Given the description of an element on the screen output the (x, y) to click on. 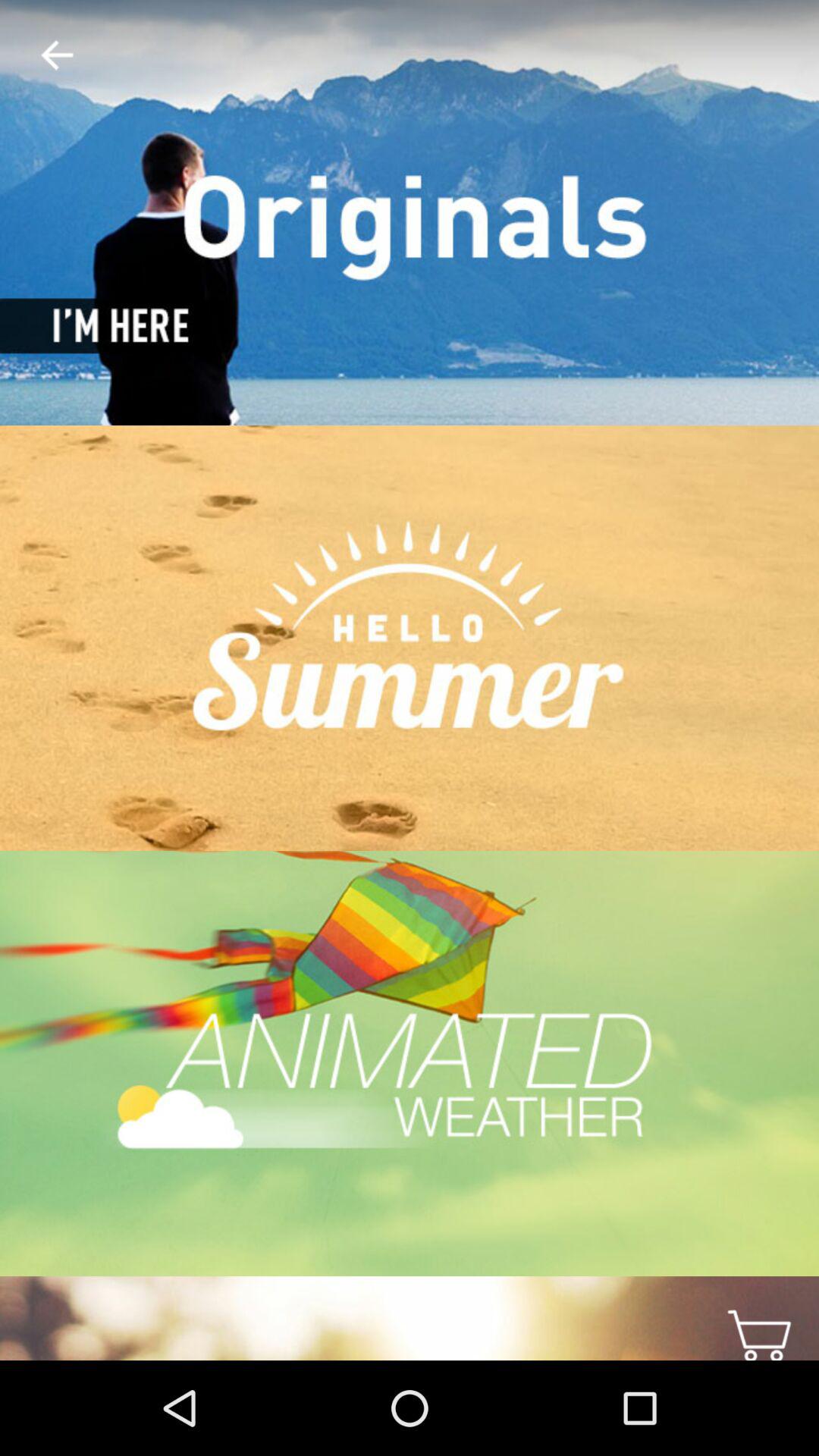
go back (44, 55)
